Given the description of an element on the screen output the (x, y) to click on. 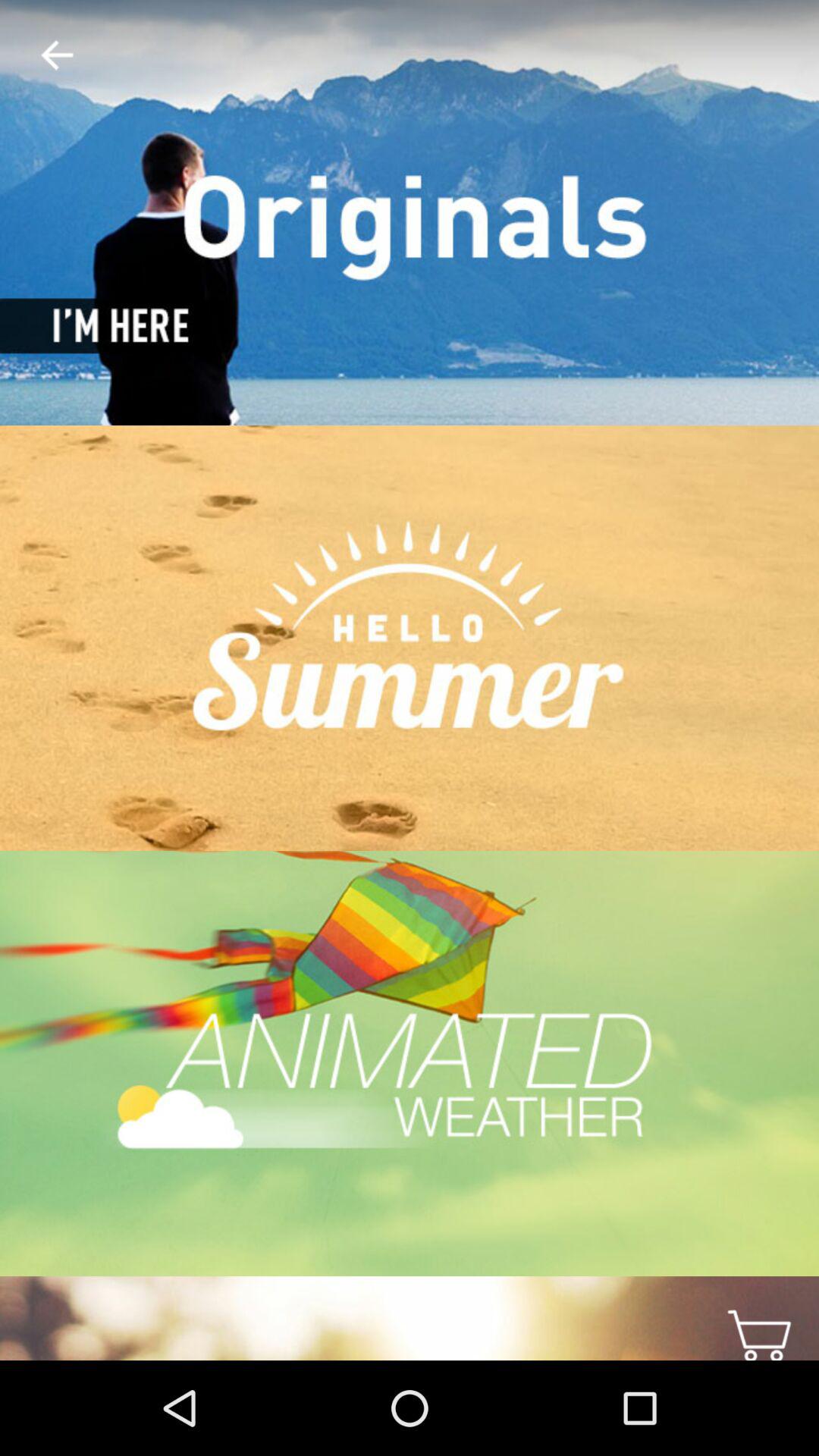
go back (44, 55)
